Given the description of an element on the screen output the (x, y) to click on. 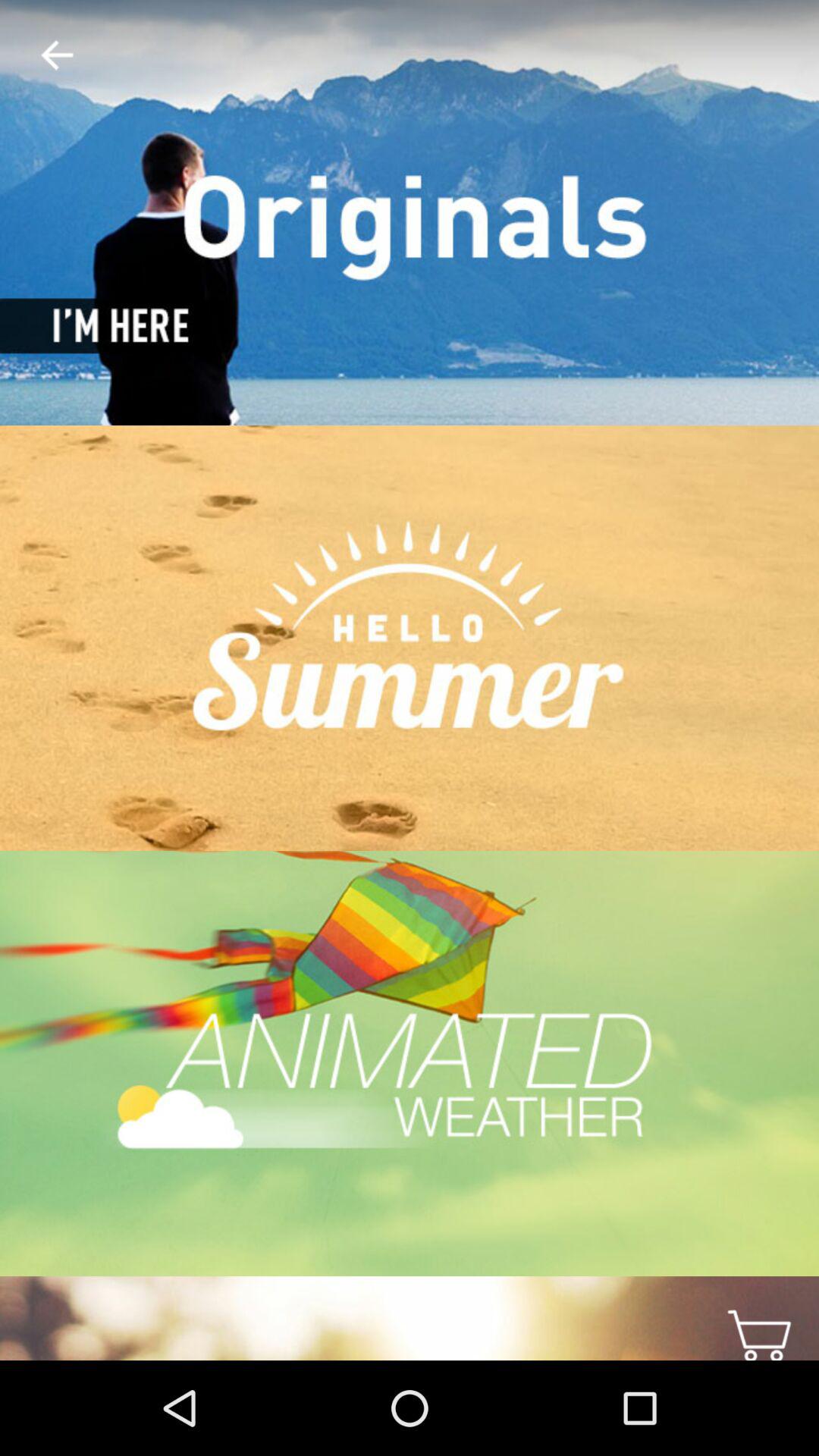
go back (44, 55)
